Given the description of an element on the screen output the (x, y) to click on. 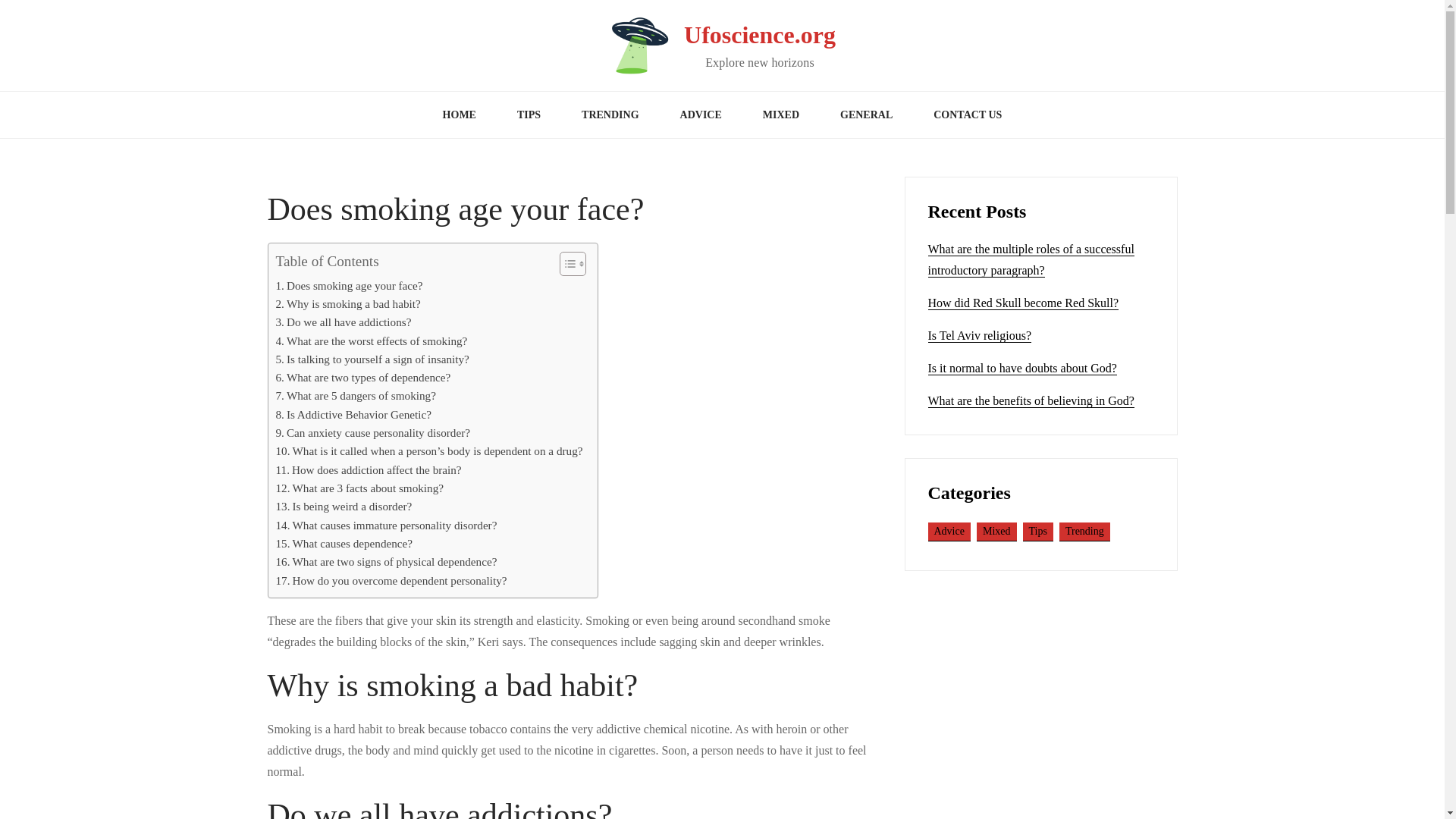
Does smoking age your face? (349, 285)
What causes dependence? (344, 543)
Can anxiety cause personality disorder? (373, 433)
TIPS (528, 114)
What are two signs of physical dependence? (386, 561)
What are 3 facts about smoking? (360, 488)
Why is smoking a bad habit? (348, 303)
Do we all have addictions? (344, 321)
Ufoscience.org (759, 34)
How does addiction affect the brain? (368, 470)
